Given the description of an element on the screen output the (x, y) to click on. 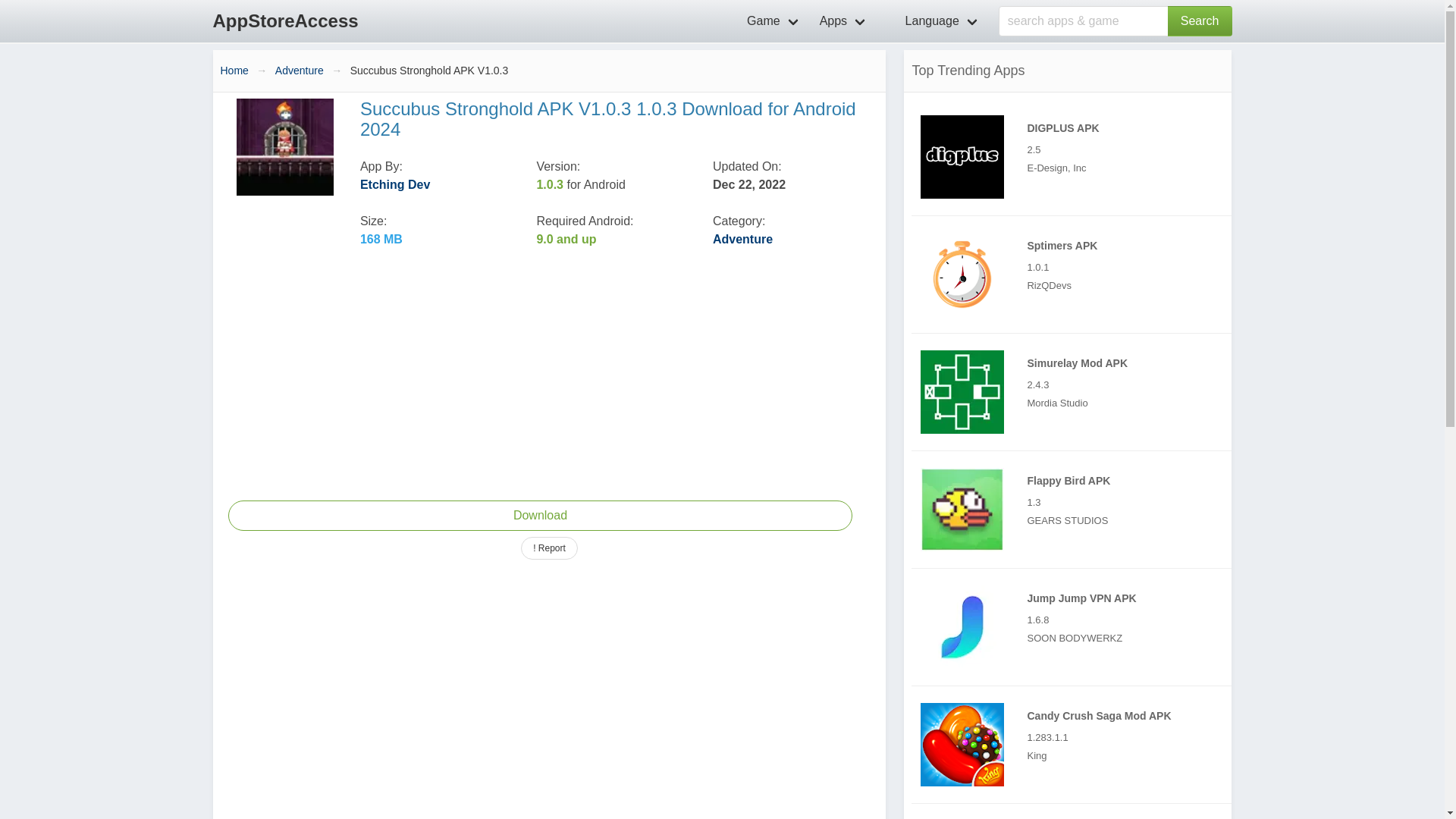
Flappy Bird APK (962, 509)
Report Problem for this APP (549, 548)
Jump Jump VPN APK (1075, 627)
Sptimers APK (1075, 274)
Language (933, 21)
Flappy Bird APK (1075, 509)
DIGPLUS APK (1075, 156)
Jump Jump VPN APK (962, 627)
Sptimers APK (962, 274)
Simurelay Mod APK (962, 392)
Game (774, 21)
